Given the description of an element on the screen output the (x, y) to click on. 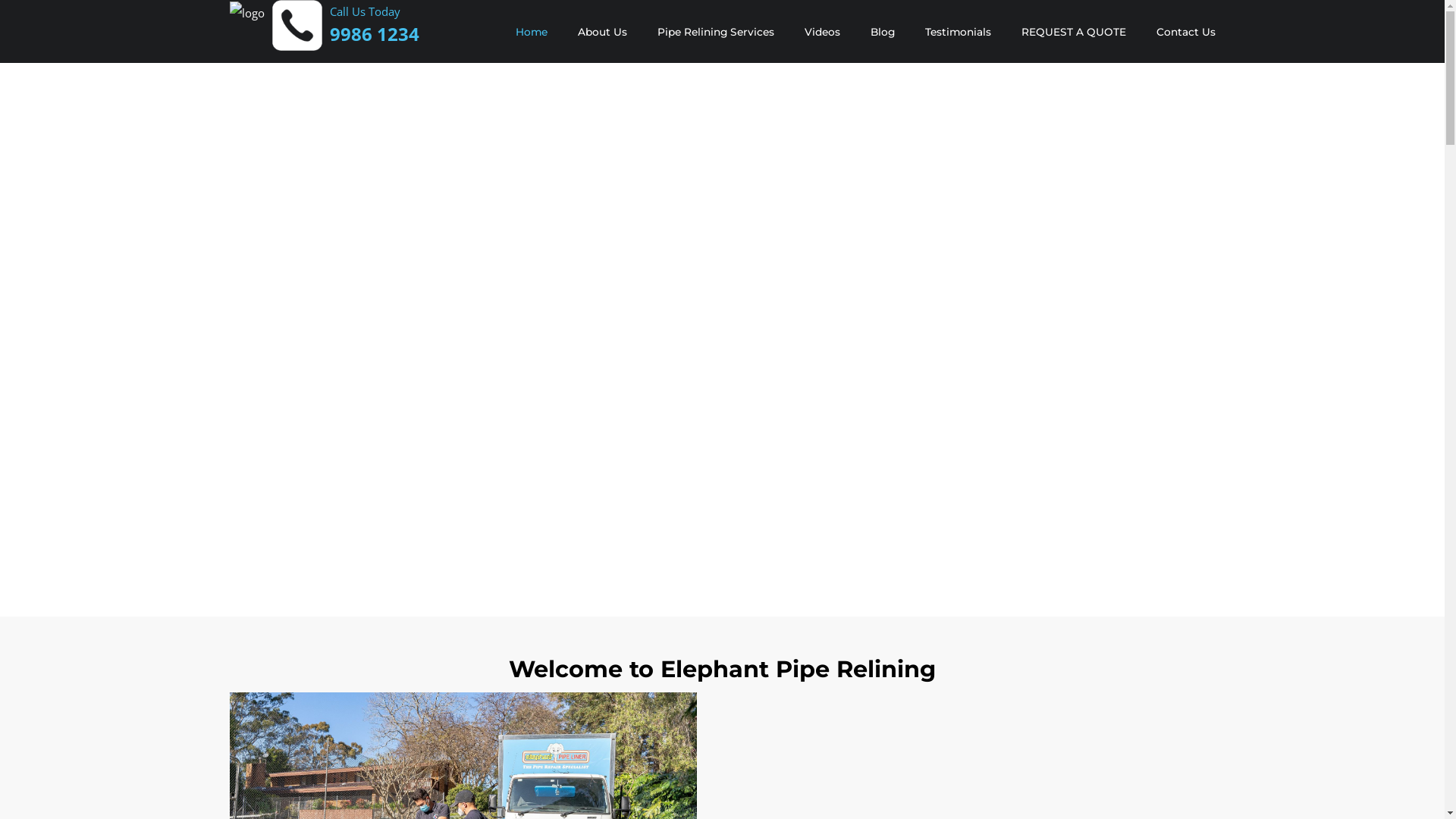
Videos Element type: text (821, 31)
REQUEST A QUOTE Element type: text (1072, 31)
Home Element type: text (531, 31)
Home Element type: text (531, 31)
Contact Us Element type: text (1184, 31)
Pipe Relining Services Element type: text (714, 31)
REQUEST A QUOTE Element type: text (1072, 31)
About Us Element type: text (602, 31)
Testimonials Element type: text (958, 31)
Pipe Relining Services Element type: text (714, 31)
Videos Element type: text (821, 31)
Call Us Today
9986 1234 Element type: text (373, 24)
Testimonials Element type: text (958, 31)
About Us Element type: text (602, 31)
Contact Us Element type: text (1184, 31)
Blog Element type: text (882, 31)
Blog Element type: text (882, 31)
